Given the description of an element on the screen output the (x, y) to click on. 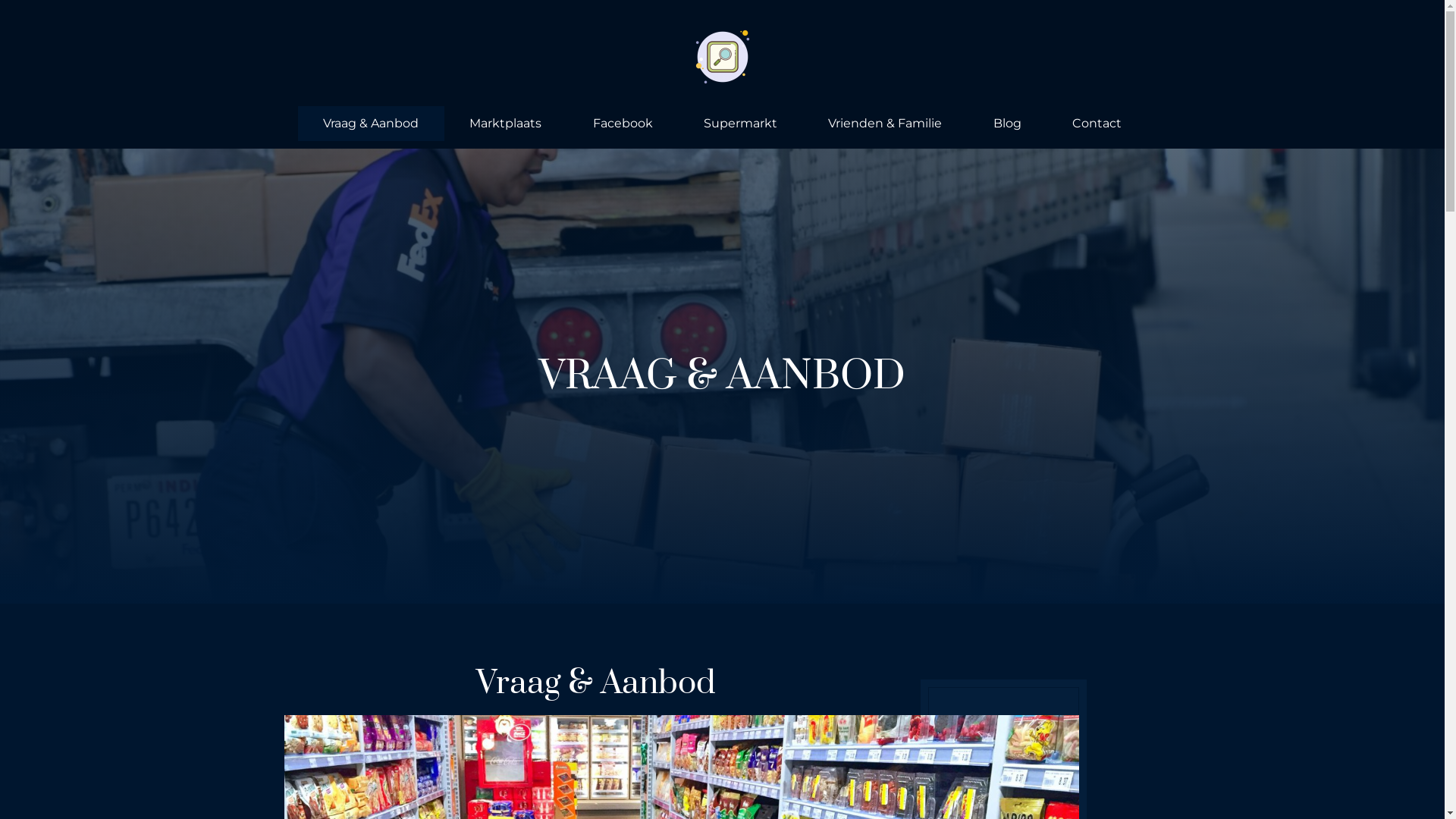
Supermarkt Element type: text (739, 123)
Vraag & Aanbod Element type: text (370, 123)
icons8-search-500 Element type: hover (722, 56)
Marktplaats Element type: text (505, 123)
Blog Element type: text (1006, 123)
Vrienden & Familie Element type: text (885, 123)
Contact Element type: text (1096, 123)
Facebook Element type: text (622, 123)
